Given the description of an element on the screen output the (x, y) to click on. 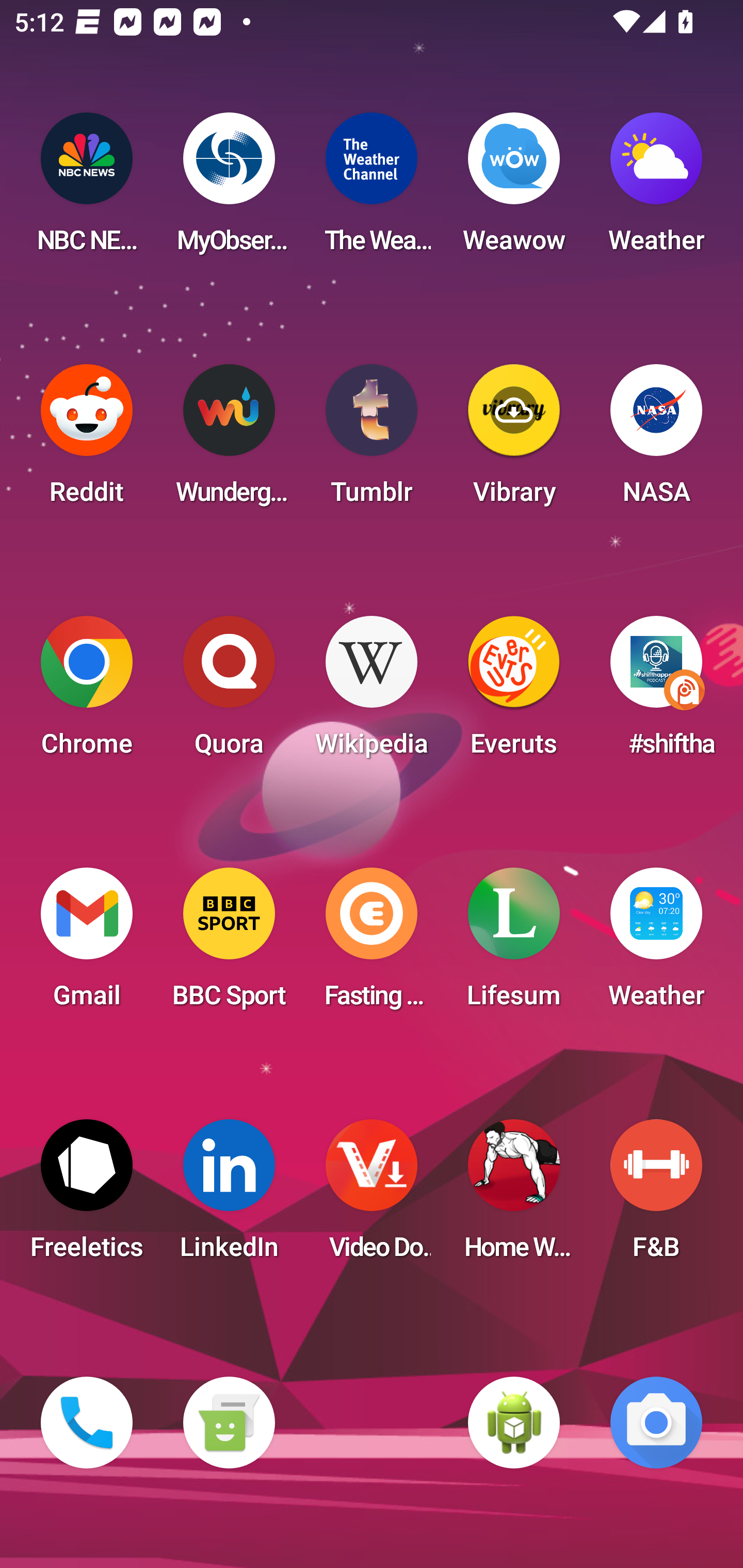
NBC NEWS (86, 188)
MyObservatory (228, 188)
The Weather Channel (371, 188)
Weawow (513, 188)
Weather (656, 188)
Reddit (86, 440)
Wunderground (228, 440)
Tumblr (371, 440)
Vibrary (513, 440)
NASA (656, 440)
Chrome (86, 692)
Quora (228, 692)
Wikipedia (371, 692)
Everuts (513, 692)
#shifthappens in the Digital Workplace Podcast (656, 692)
Gmail (86, 943)
BBC Sport (228, 943)
Fasting Coach (371, 943)
Lifesum (513, 943)
Weather (656, 943)
Freeletics (86, 1195)
LinkedIn (228, 1195)
Video Downloader & Ace Player (371, 1195)
Home Workout (513, 1195)
F&B (656, 1195)
Phone (86, 1422)
Messaging (228, 1422)
WebView Browser Tester (513, 1422)
Camera (656, 1422)
